Given the description of an element on the screen output the (x, y) to click on. 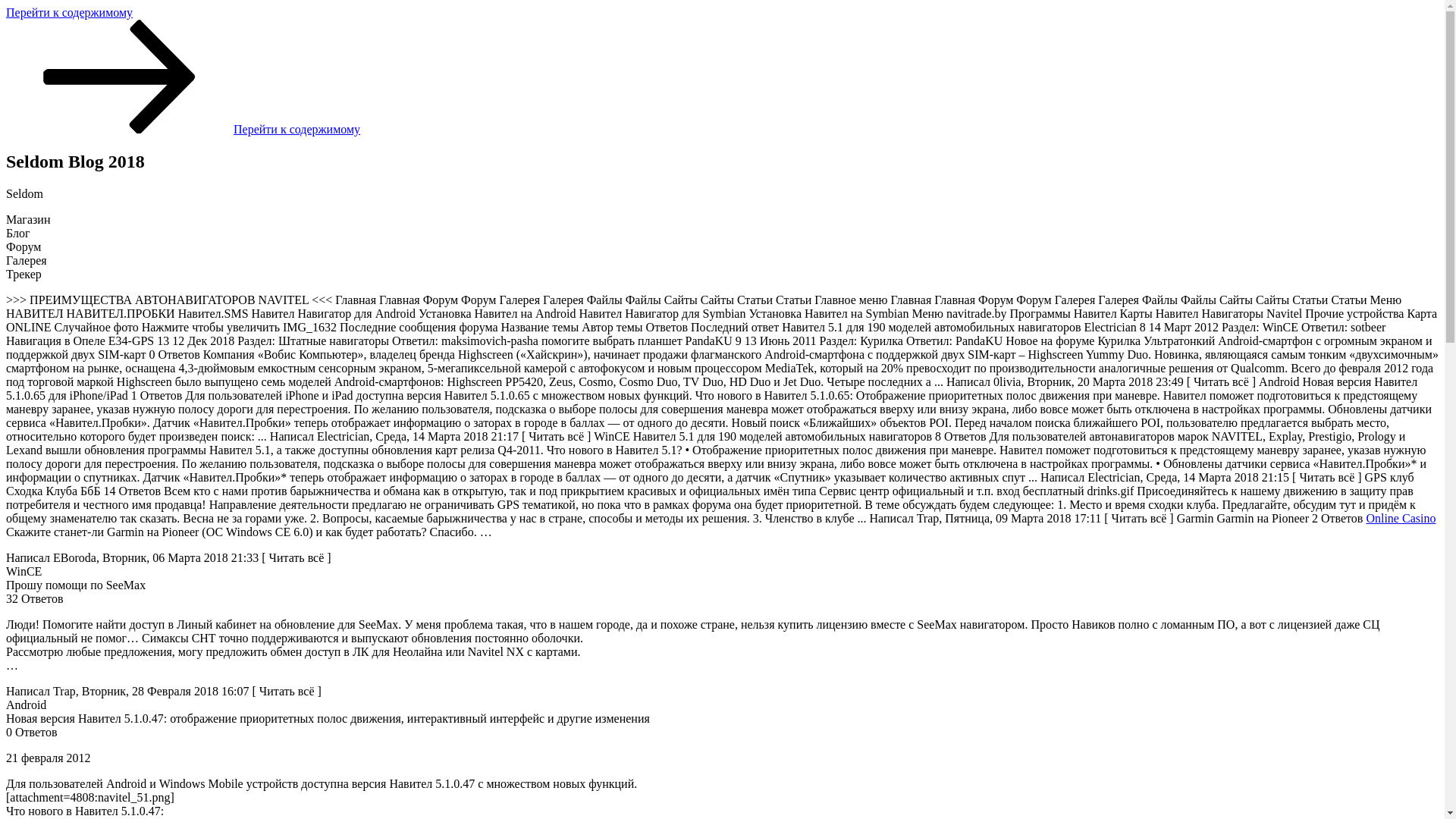
Online Casino Element type: text (1400, 517)
Seldom Blog 2018 Element type: text (98, 48)
